Given the description of an element on the screen output the (x, y) to click on. 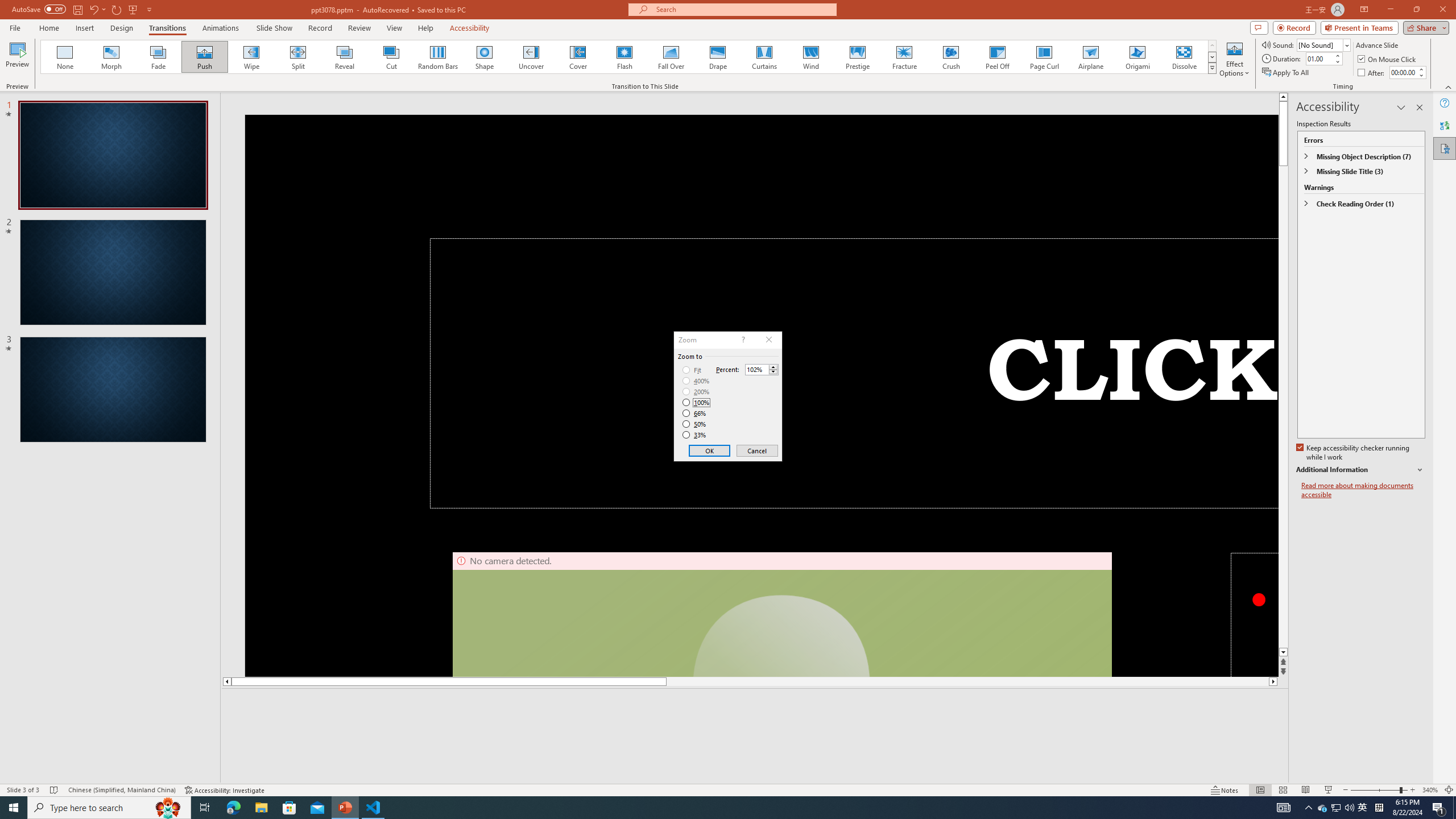
Search highlights icon opens search home window (167, 807)
Duration (1319, 58)
AutomationID: 4105 (1283, 807)
Running applications (700, 807)
66% (694, 412)
Morph (111, 56)
None (65, 56)
